Given the description of an element on the screen output the (x, y) to click on. 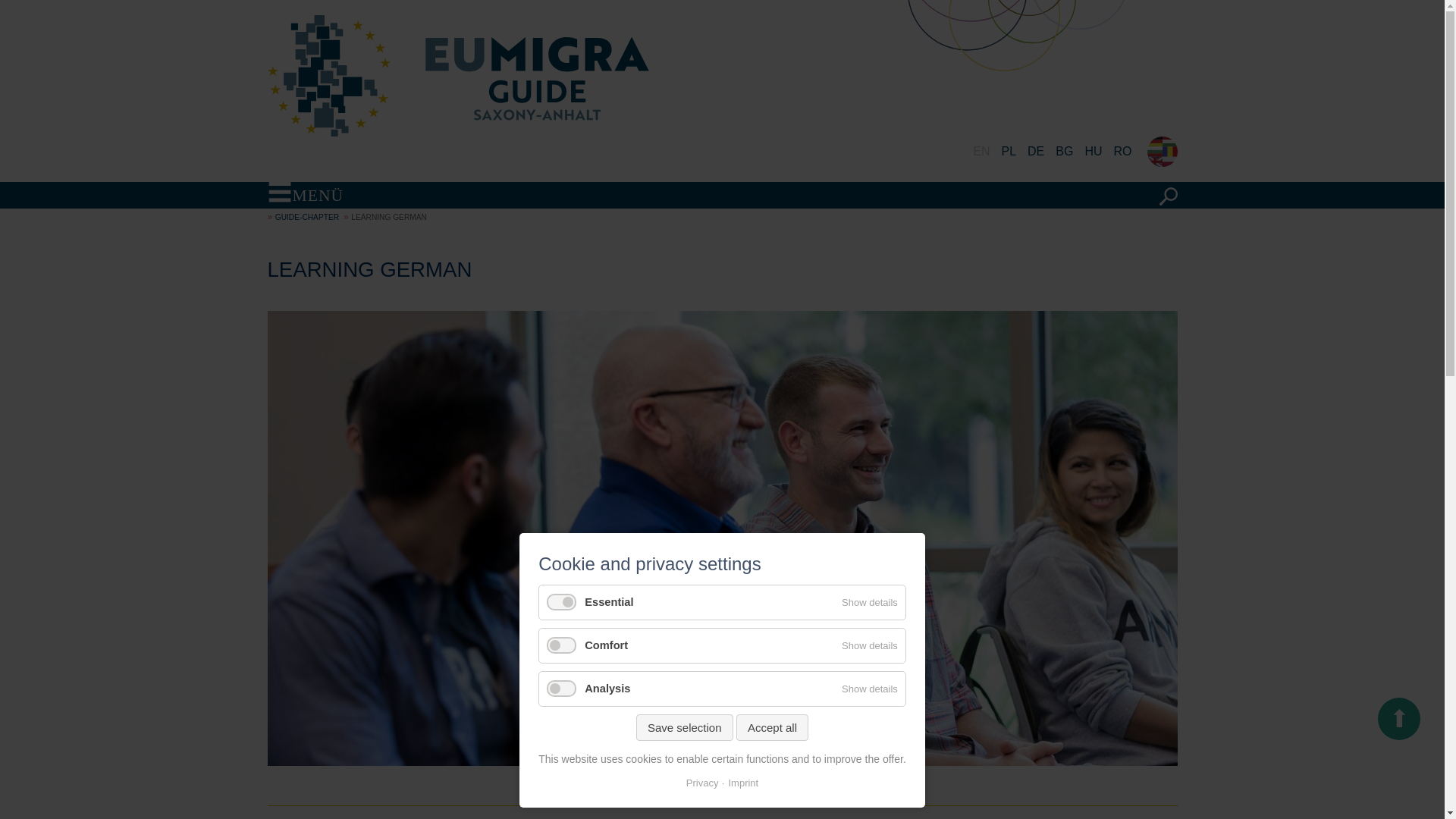
finden (1167, 196)
HU (1093, 151)
DE (1035, 151)
RO (1122, 151)
GUIDE-CHAPTER (307, 216)
PL (1008, 151)
BG (1064, 151)
